Given the description of an element on the screen output the (x, y) to click on. 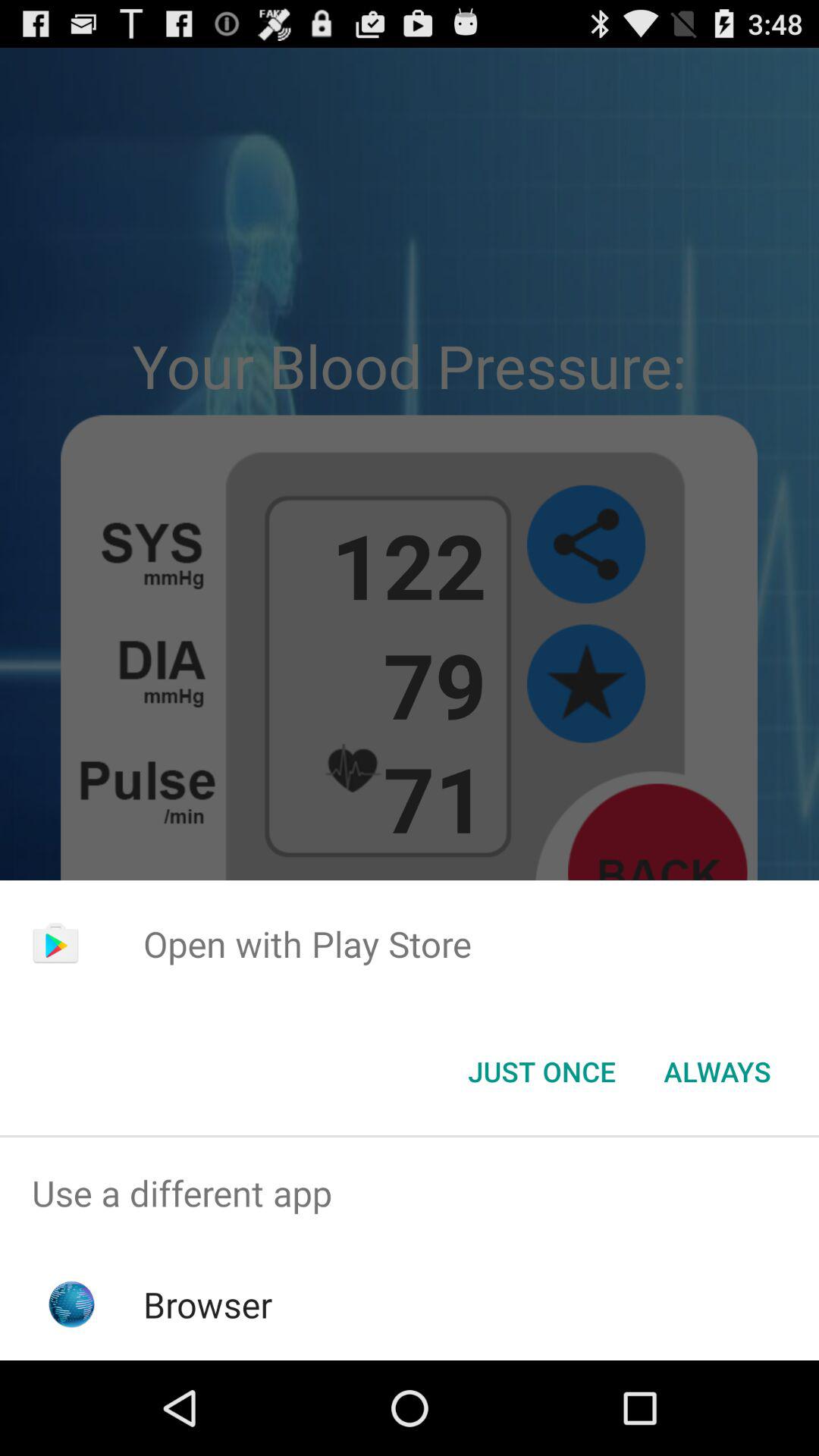
scroll until just once (541, 1071)
